Given the description of an element on the screen output the (x, y) to click on. 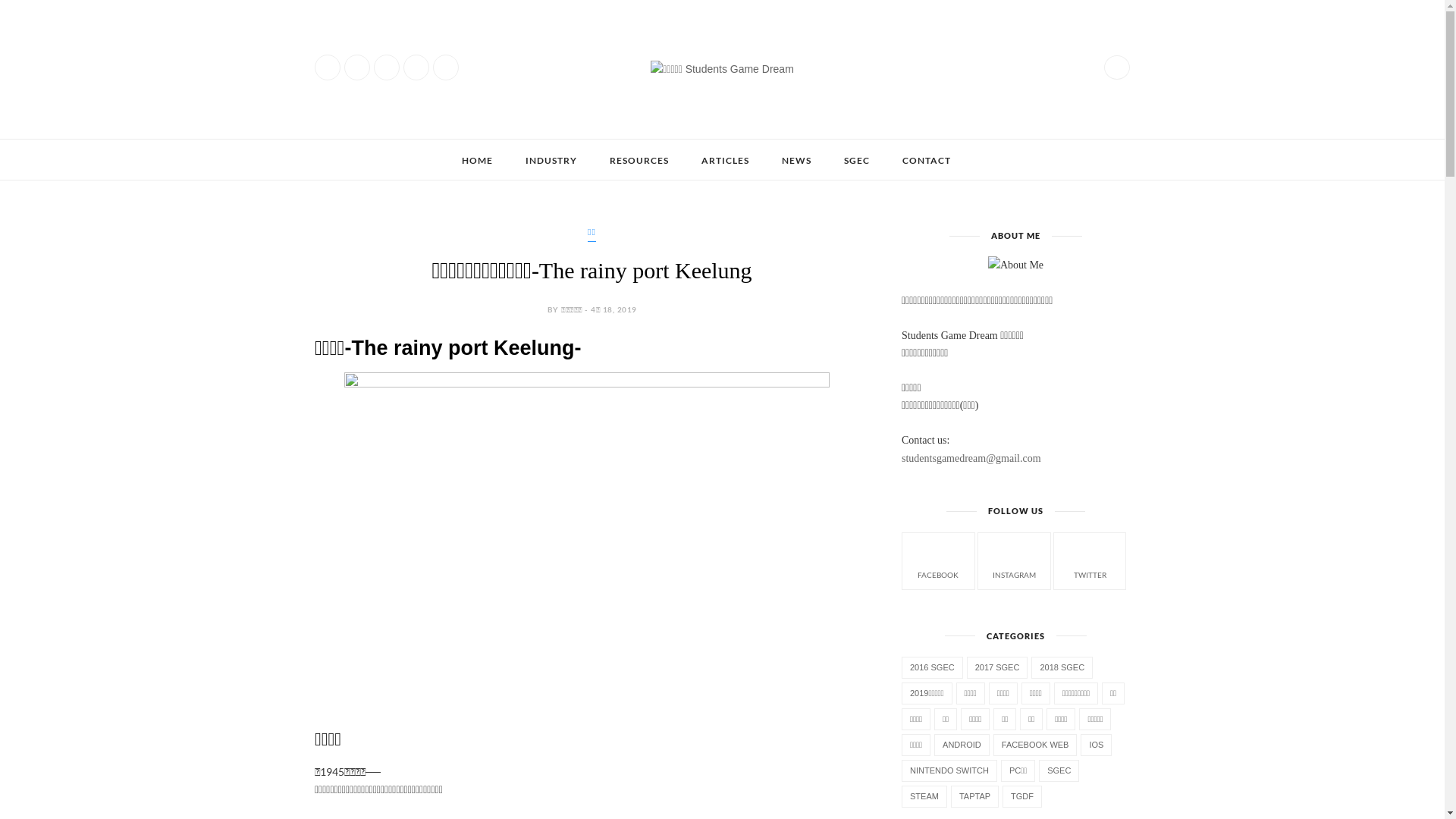
2016 SGEC Element type: text (932, 667)
NINTENDO SWITCH Element type: text (949, 770)
ANDROID Element type: text (961, 745)
TGDF Element type: text (1021, 796)
CONTACT Element type: text (926, 160)
STEAM Element type: text (924, 796)
INDUSTRY Element type: text (550, 160)
TAPTAP Element type: text (974, 796)
IOS Element type: text (1095, 745)
ARTICLES Element type: text (724, 160)
SGEC Element type: text (856, 160)
TWITTER Element type: text (1090, 559)
FACEBOOK WEB Element type: text (1035, 745)
SGEC Element type: text (1058, 770)
NEWS Element type: text (795, 160)
FACEBOOK Element type: text (938, 559)
studentsgamedream@gmail.com Element type: text (971, 458)
2018 SGEC Element type: text (1061, 667)
2017 SGEC Element type: text (997, 667)
INSTAGRAM Element type: text (1014, 559)
RESOURCES Element type: text (638, 160)
HOME Element type: text (476, 160)
